Given the description of an element on the screen output the (x, y) to click on. 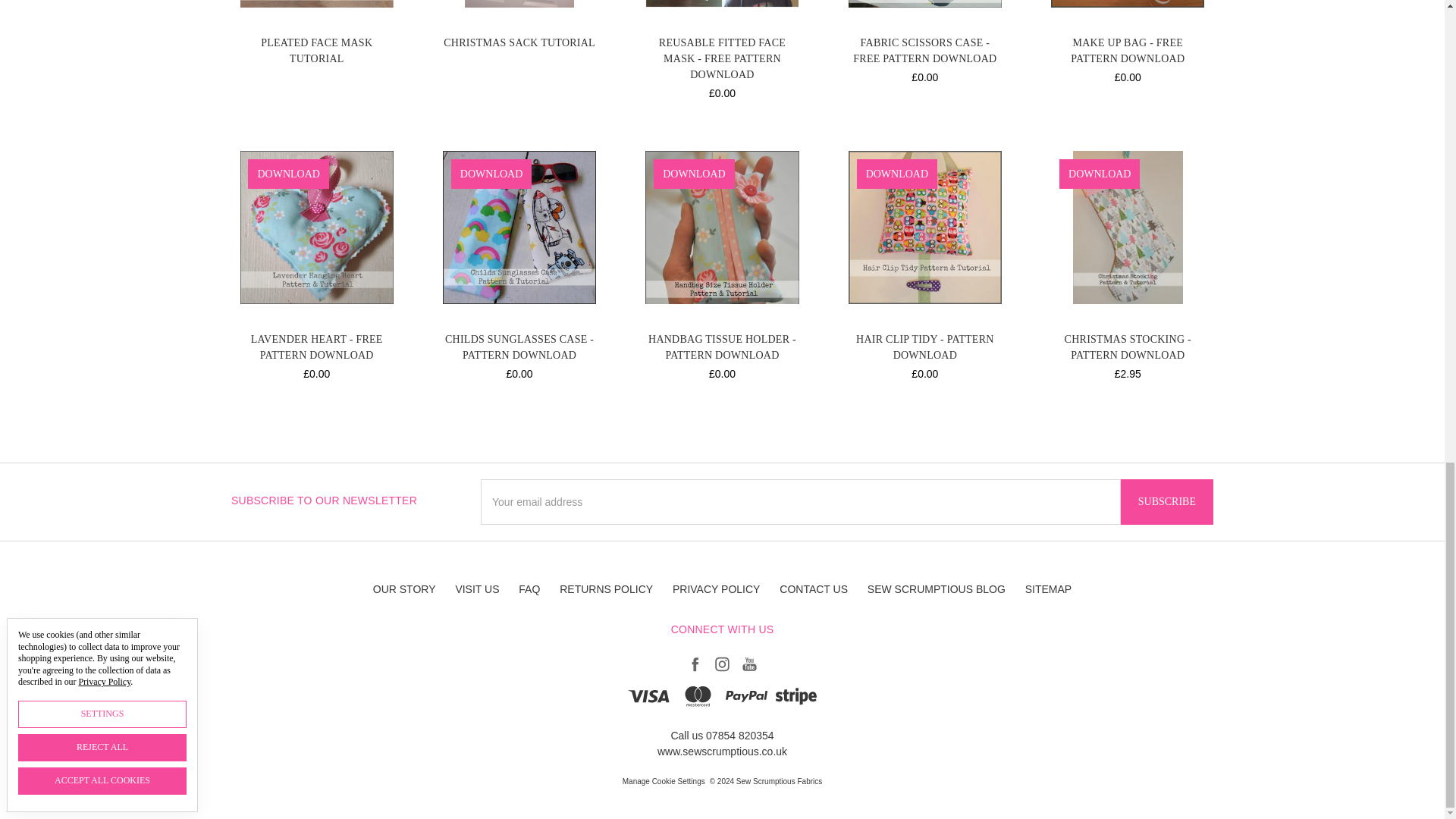
Sew Scrumptious - Pleated Face Mask Tutorial (316, 3)
Sew Scrumptious - Scissors Case - Pattern Download (924, 3)
Sew Scrumptious - Lavender Heart - Pattern Download (316, 226)
Sew Scrumptious - Make Up Bag - Pattern Download (1127, 3)
Subscribe (1166, 501)
Sew Scrumptious - Christmas Stocking - Pattern Download (1127, 226)
Sew Scrumptious - Childs Sunglasses Case - Pattern Download (518, 226)
Sew Scrumptious - Hair Clip Tidy - Pattern Download (924, 226)
Sew Scrumptious - Christmas Sack Tutorial (518, 3)
